Given the description of an element on the screen output the (x, y) to click on. 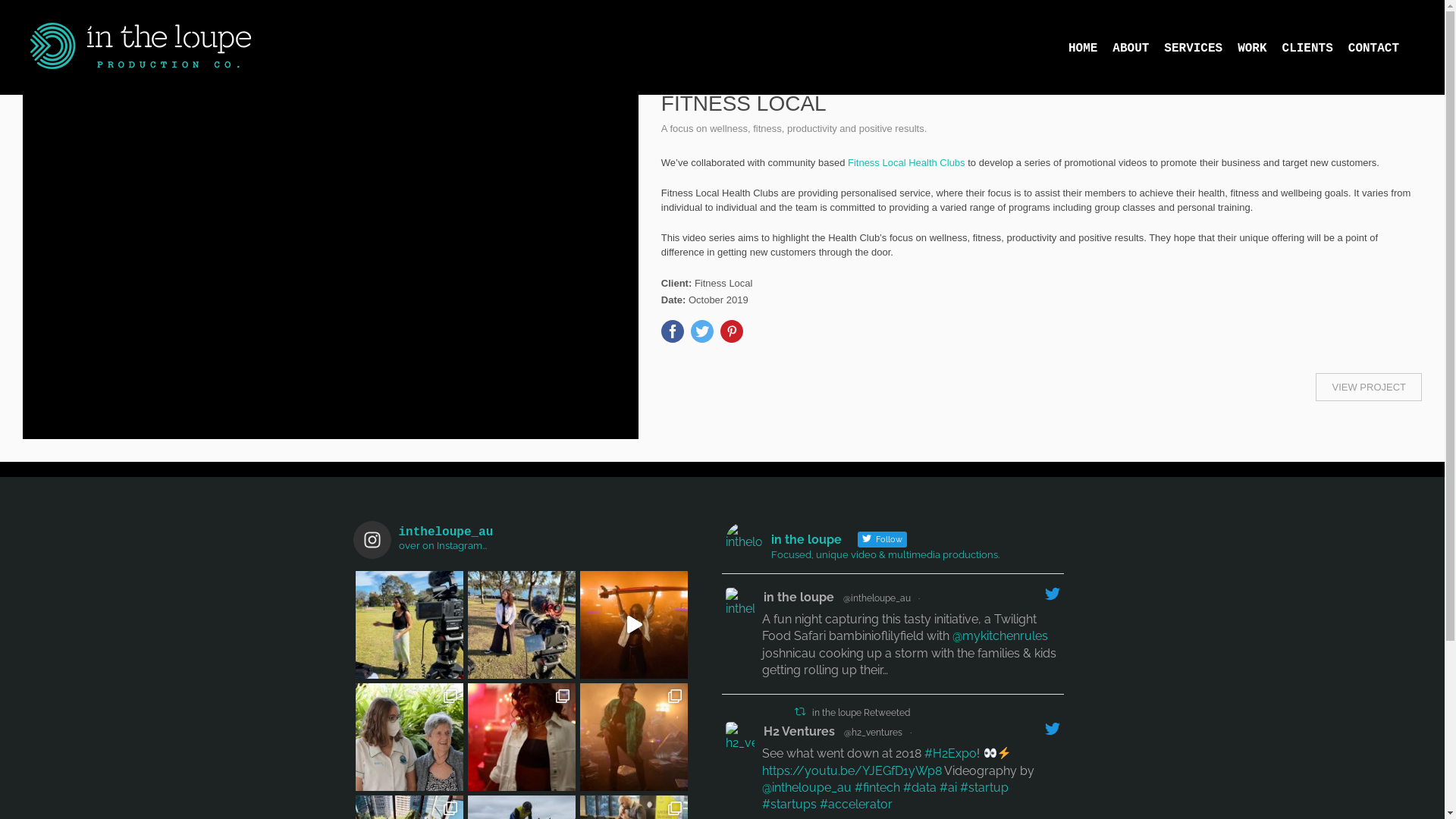
#fintech Element type: text (877, 787)
Share on Twitter Element type: hover (701, 331)
@mykitchenrules Element type: text (1000, 635)
Share on Facebook Element type: hover (672, 331)
VIEW PROJECT Element type: text (1368, 387)
Share on Pinterest Element type: hover (731, 331)
#ai Element type: text (948, 787)
Retweet on Twitter Element type: text (799, 711)
#H2Expo Element type: text (950, 753)
in the loupe Element type: text (798, 597)
#startup Element type: text (984, 787)
CONTACT Element type: text (1381, 47)
CLIENTS Element type: text (1315, 47)
#data Element type: text (919, 787)
@h2_ventures Element type: text (873, 732)
SERVICES Element type: text (1200, 47)
@intheloupe_au Element type: text (806, 787)
WORK Element type: text (1259, 47)
ABOUT Element type: text (1138, 47)
H2 Ventures Element type: text (798, 731)
@intheloupe_au Element type: text (876, 598)
intheloupe_au
over on Instagram... Element type: text (521, 539)
Fitness Local Health Clubs Element type: text (906, 162)
#startups Element type: text (789, 804)
in the loupe Retweeted Element type: text (861, 712)
#accelerator Element type: text (855, 804)
https://youtu.be/YJEGfD1yWp8 Element type: text (851, 770)
HOME Element type: text (1090, 47)
